Given the description of an element on the screen output the (x, y) to click on. 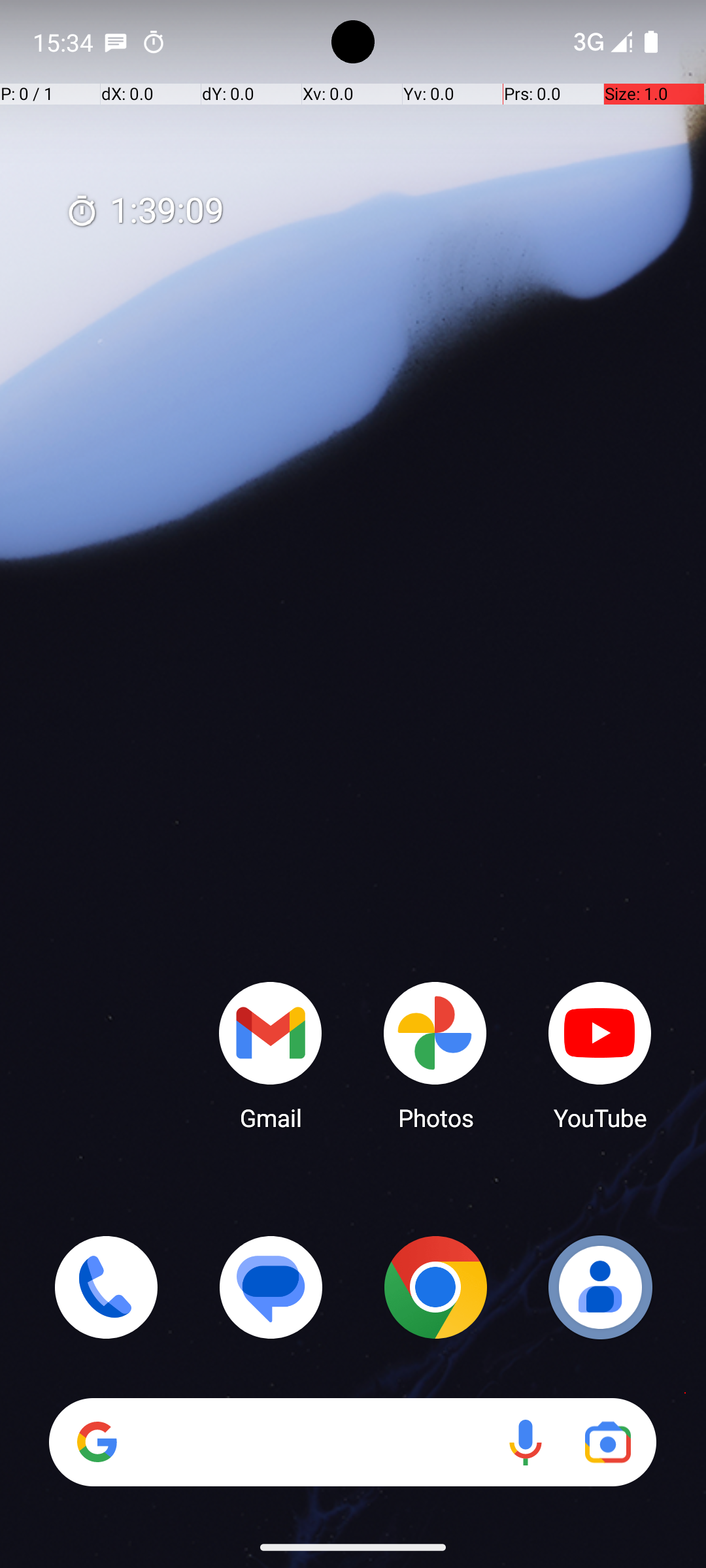
1:39:08 Element type: android.widget.TextView (144, 210)
Digital Wellbeing notification: Updating Digital Wellbeing… Element type: android.widget.ImageView (191, 41)
